Given the description of an element on the screen output the (x, y) to click on. 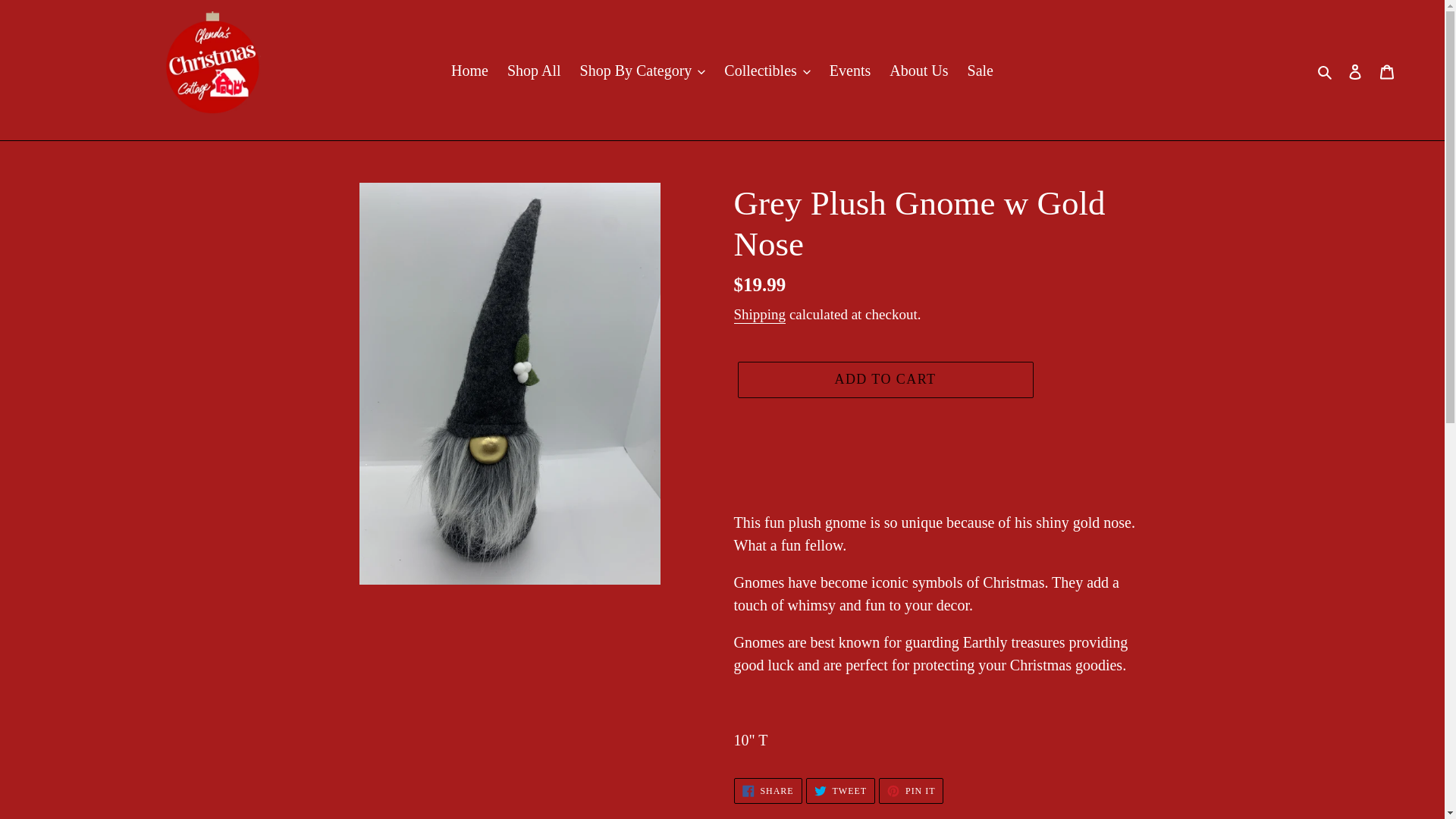
Shop All (534, 69)
Shop By Category (642, 69)
Home (470, 69)
Collectibles (767, 69)
